Given the description of an element on the screen output the (x, y) to click on. 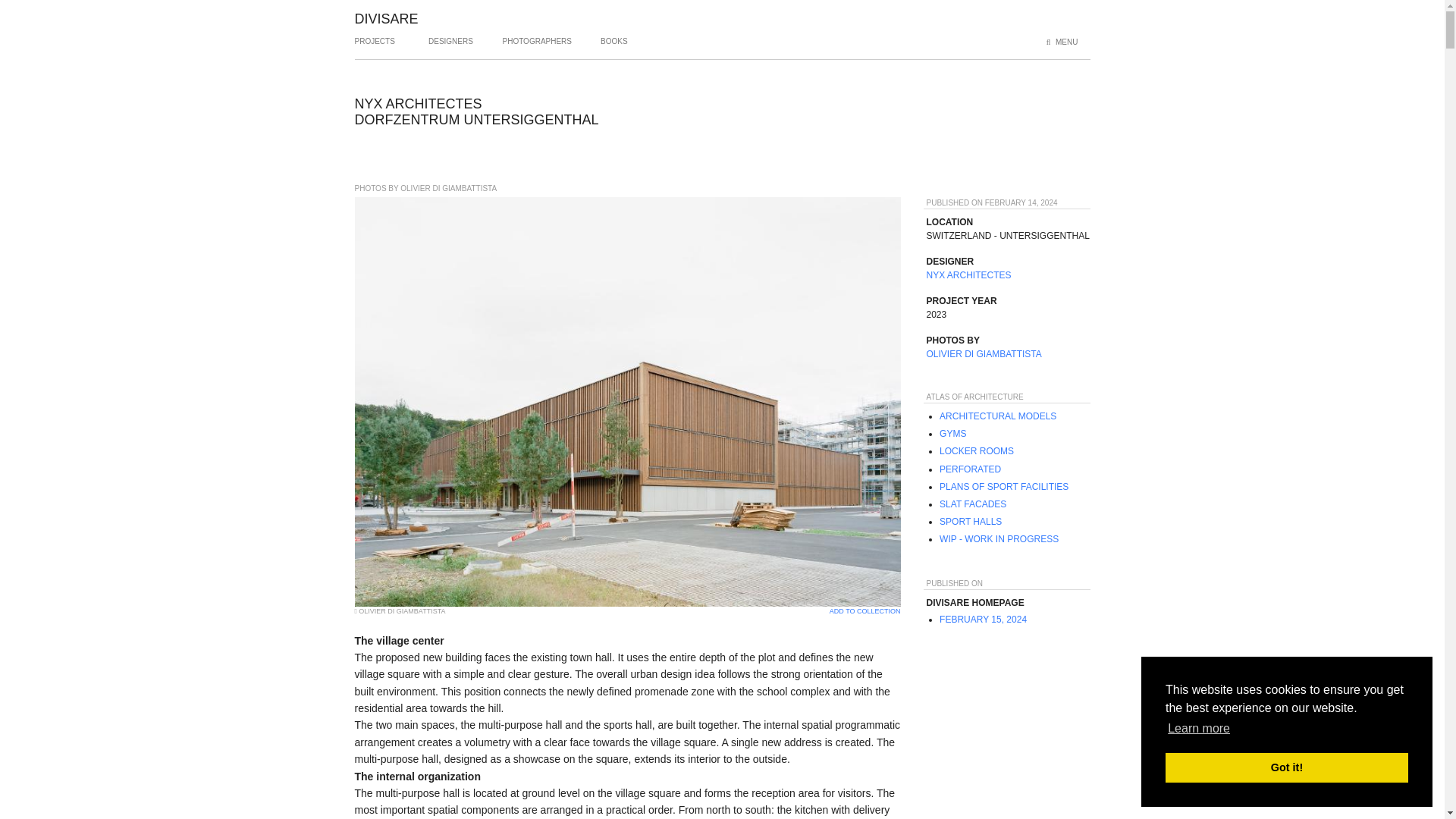
DIVISARE (387, 18)
PROJECTS (374, 46)
Learn more (1198, 728)
Got it! (1286, 767)
